Given the description of an element on the screen output the (x, y) to click on. 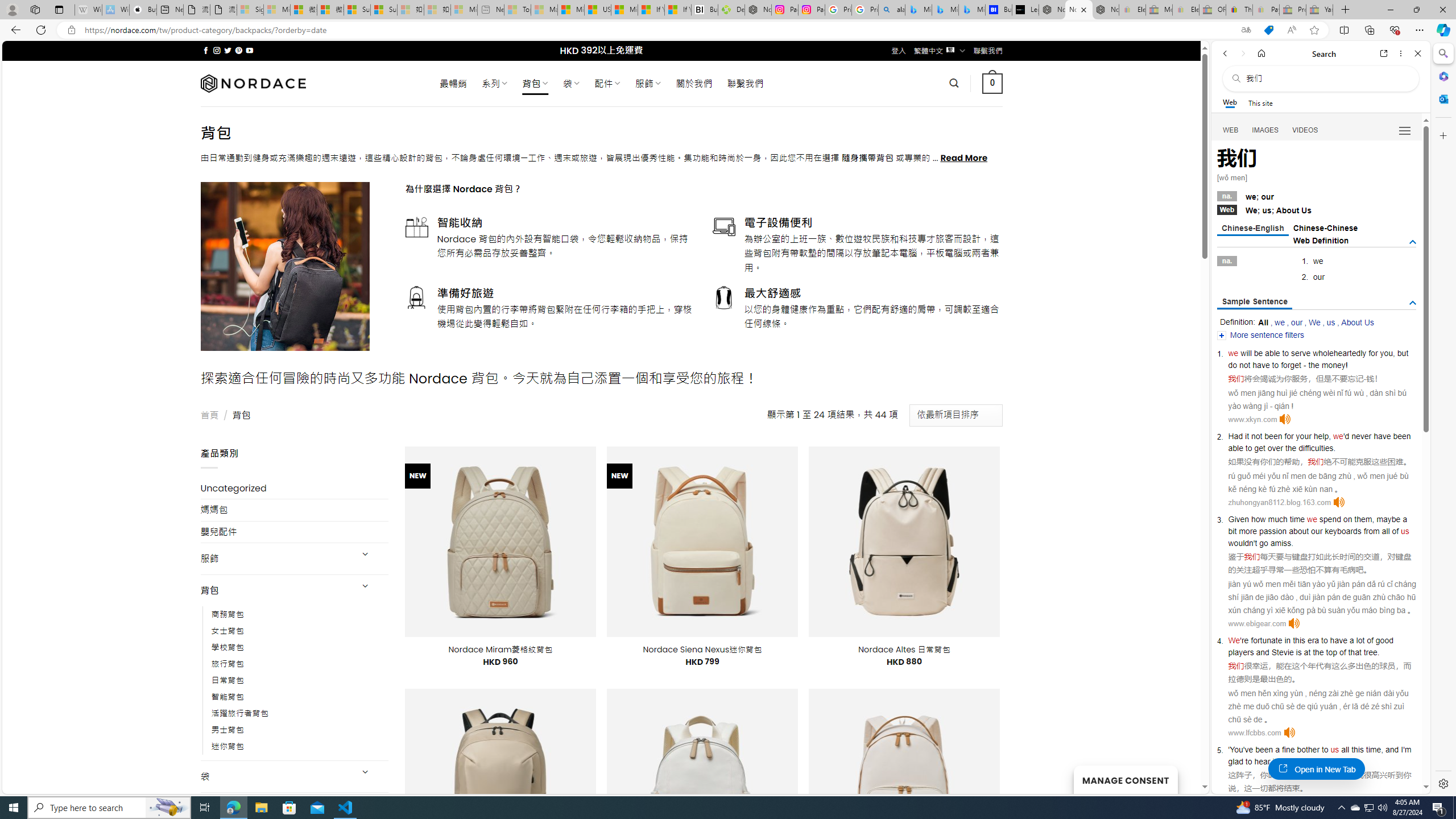
but (1402, 352)
never (1361, 435)
Uncategorized (294, 488)
is (1298, 651)
on (1347, 519)
have (1337, 640)
About Us (1357, 322)
keyboards (1342, 530)
This site scope (1259, 102)
